Given the description of an element on the screen output the (x, y) to click on. 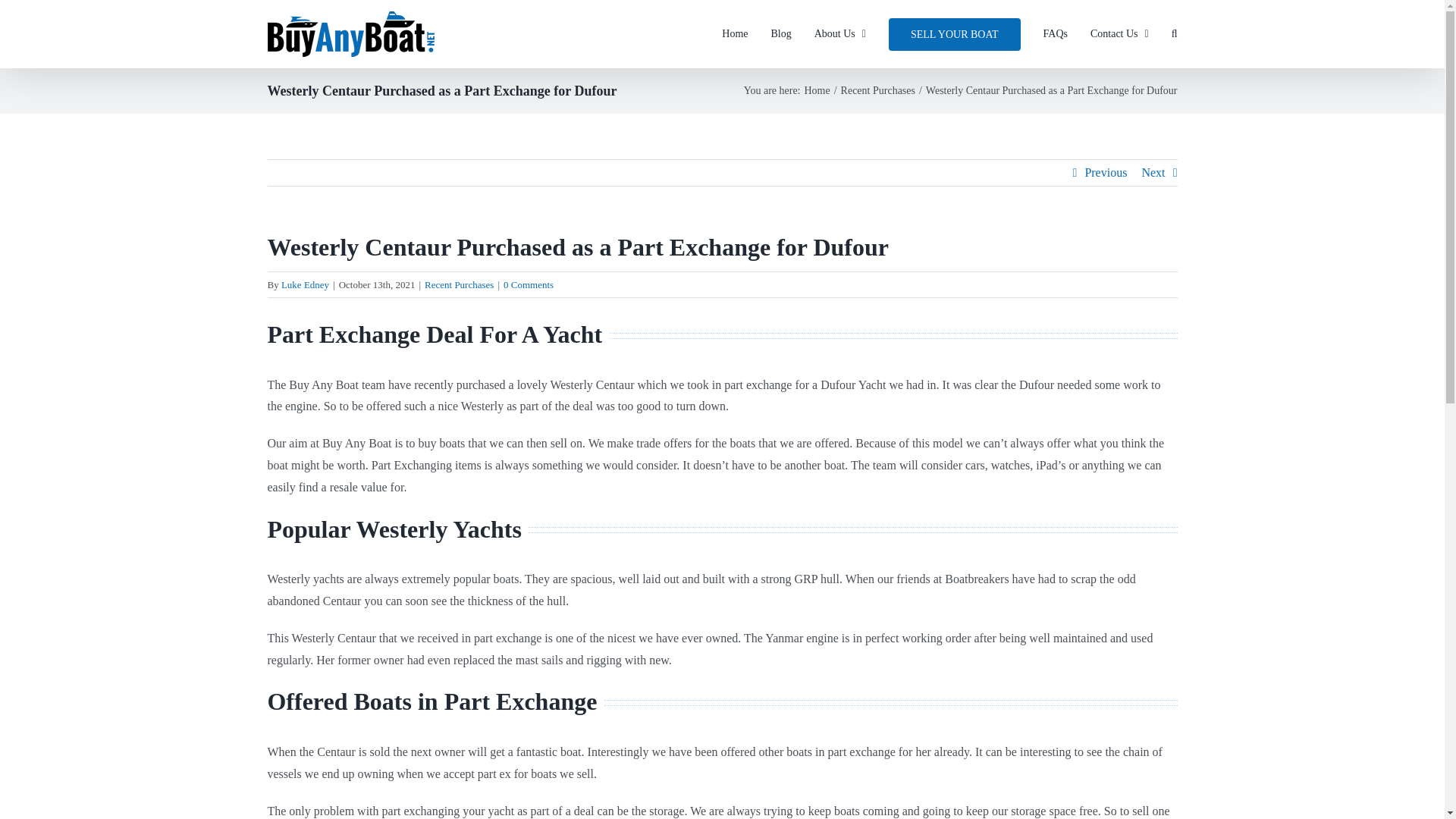
Recent Purchases (459, 284)
SELL YOUR BOAT (954, 33)
Recent Purchases (878, 90)
Home (816, 90)
Luke Edney (305, 284)
Posts by Luke Edney (305, 284)
Next (1152, 172)
0 Comments (528, 284)
Previous (1105, 172)
